Given the description of an element on the screen output the (x, y) to click on. 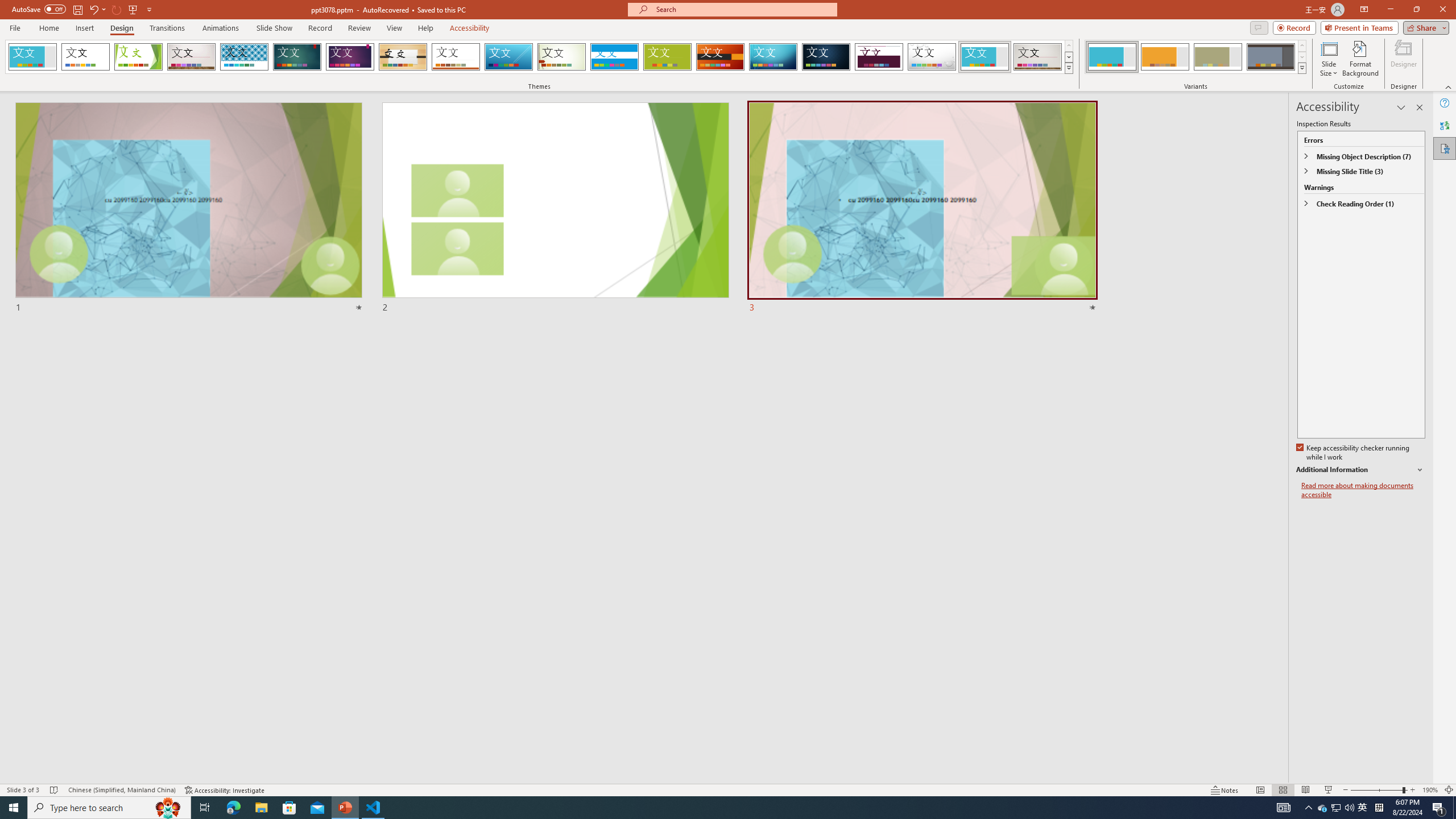
Read more about making documents accessible (1363, 489)
Frame Variant 2 (1164, 56)
Damask (826, 56)
